Given the description of an element on the screen output the (x, y) to click on. 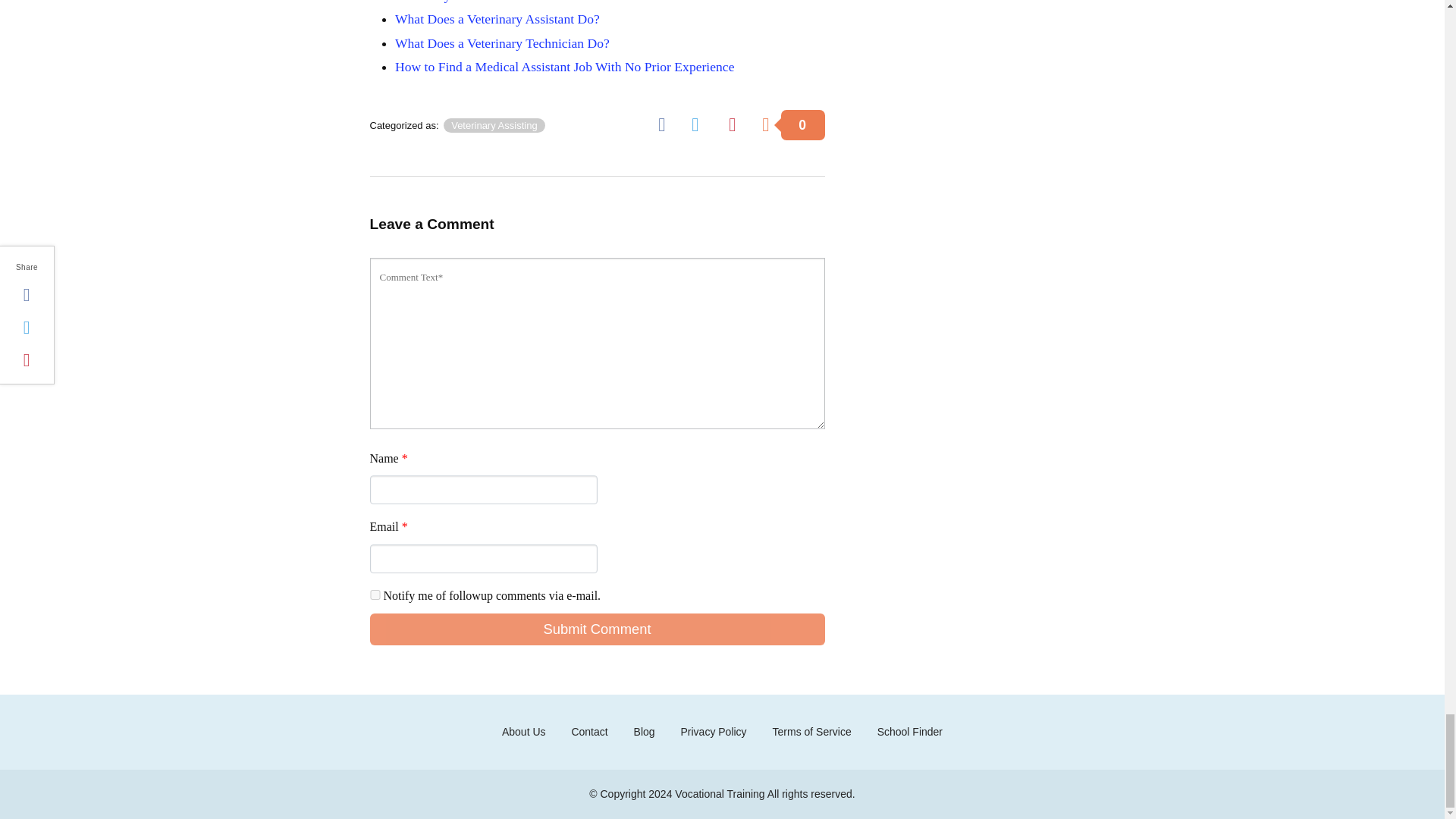
What Does a Veterinary Assistant Do? (496, 18)
yes (374, 594)
Veterinary Assistant Certification (483, 1)
Share on Twitter (700, 124)
Comment on This Post (792, 124)
How to Find a Medical Assistant Job With No Prior Experience (564, 66)
Submit Comment (597, 629)
View all posts on Veterinary Assisting (494, 124)
Share on Facebook (667, 124)
Share on Pinterest (737, 124)
What Does a Veterinary Technician Do? (502, 43)
